Given the description of an element on the screen output the (x, y) to click on. 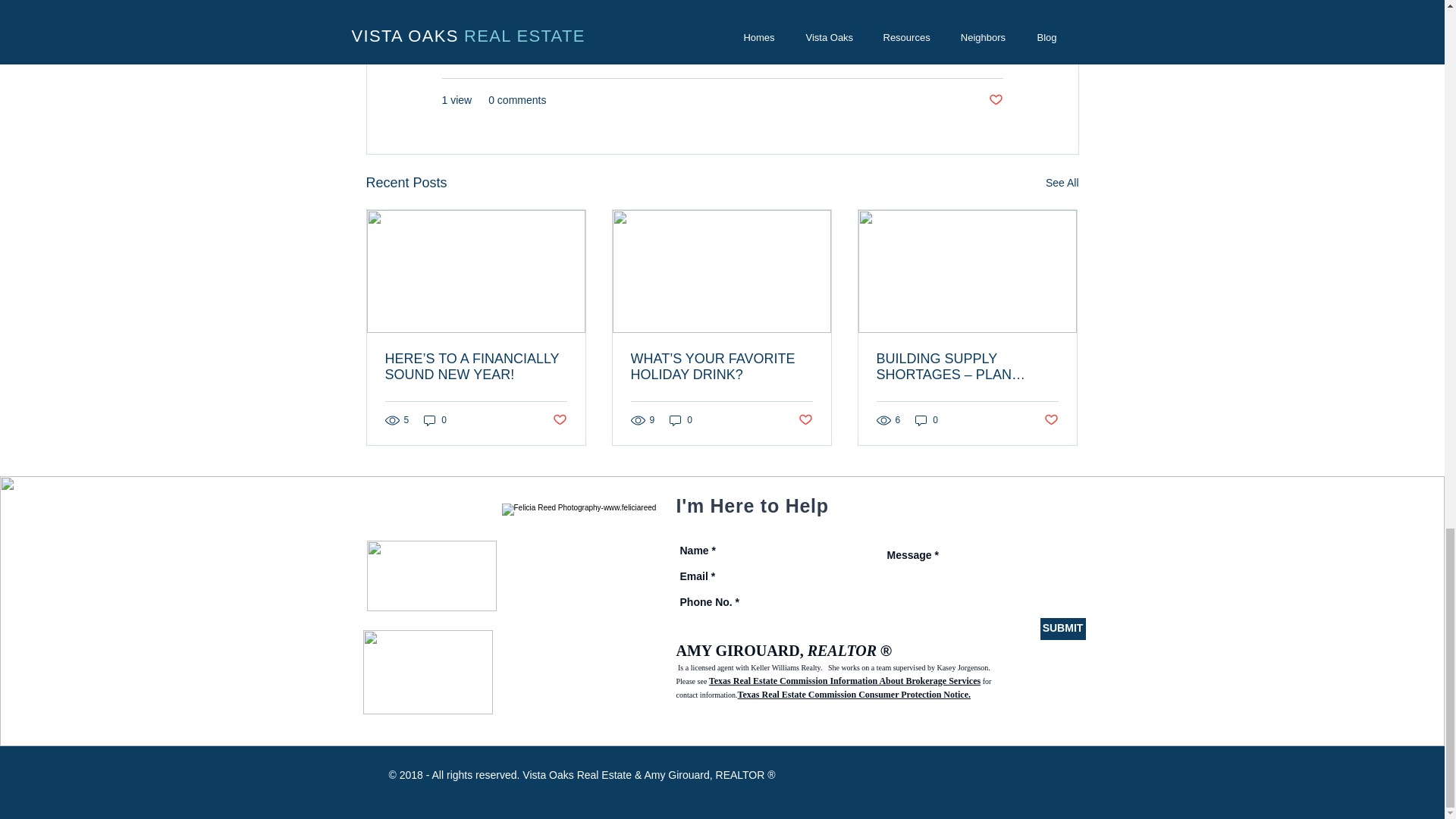
0 (681, 420)
Post not marked as liked (558, 420)
Texas Real Estate Commission Consumer Protection Notice. (854, 695)
SUBMIT (1063, 628)
Post not marked as liked (804, 420)
0 (435, 420)
Post not marked as liked (995, 100)
Post not marked as liked (1050, 420)
0 (926, 420)
See All (1061, 182)
